Given the description of an element on the screen output the (x, y) to click on. 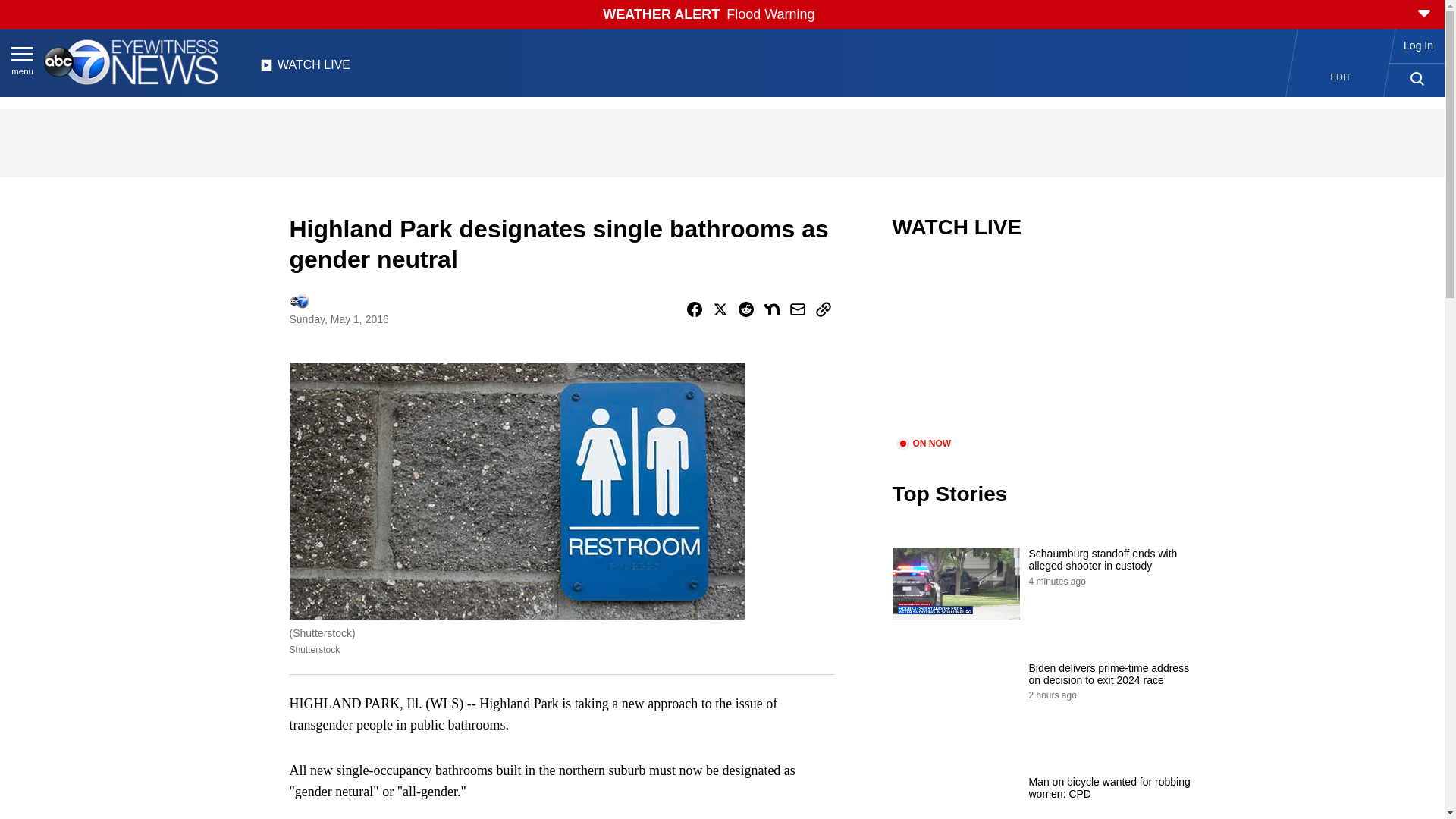
video.title (1043, 347)
WATCH LIVE (305, 69)
EDIT (1340, 77)
